Given the description of an element on the screen output the (x, y) to click on. 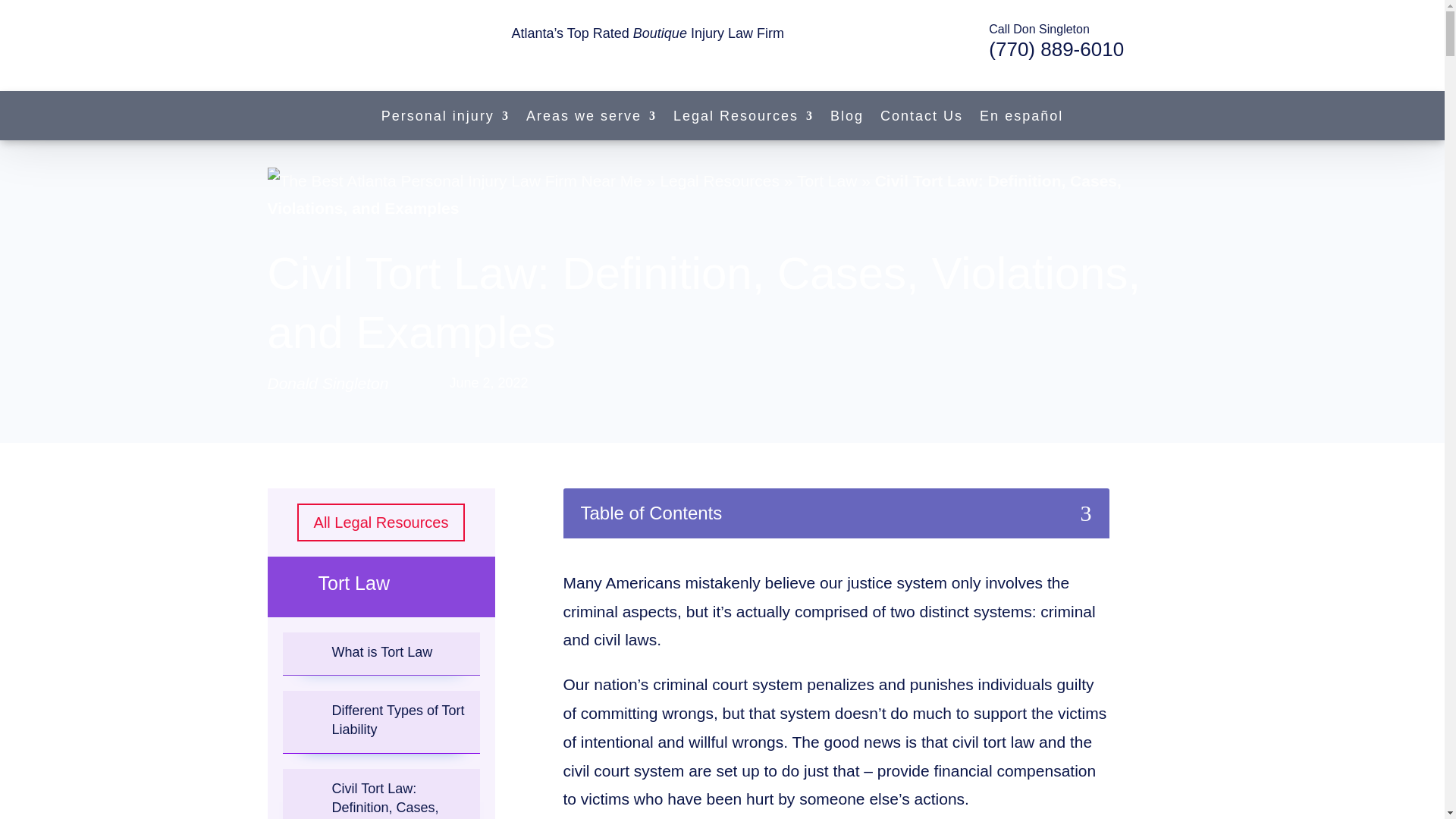
Areas we serve (590, 118)
The Best Atlanta Personal Injury Law Firm Near Me (454, 180)
Personal injury (445, 118)
